Given the description of an element on the screen output the (x, y) to click on. 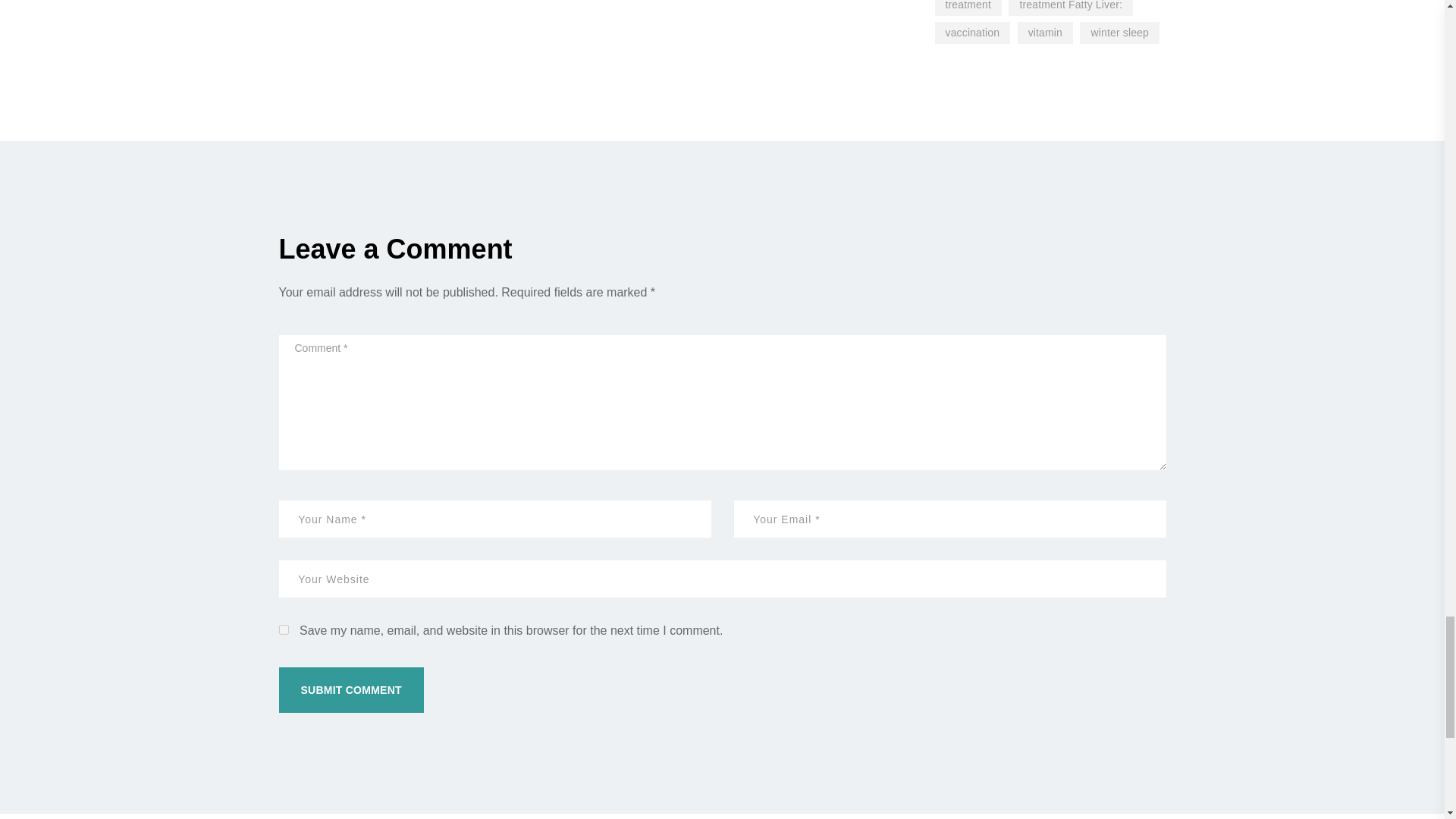
Submit Comment (351, 689)
yes (283, 629)
